Given the description of an element on the screen output the (x, y) to click on. 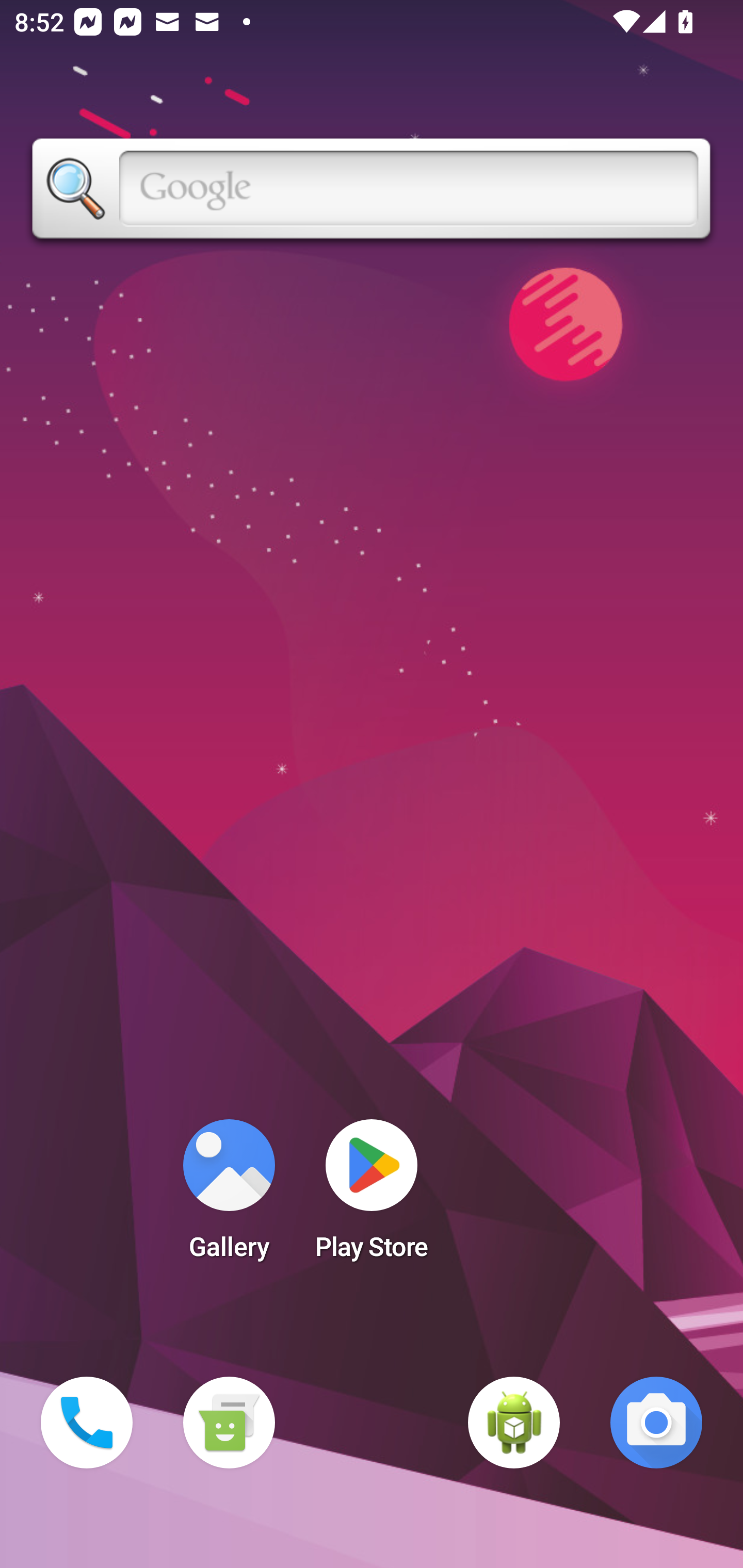
Gallery (228, 1195)
Play Store (371, 1195)
Phone (86, 1422)
Messaging (228, 1422)
WebView Browser Tester (513, 1422)
Camera (656, 1422)
